Given the description of an element on the screen output the (x, y) to click on. 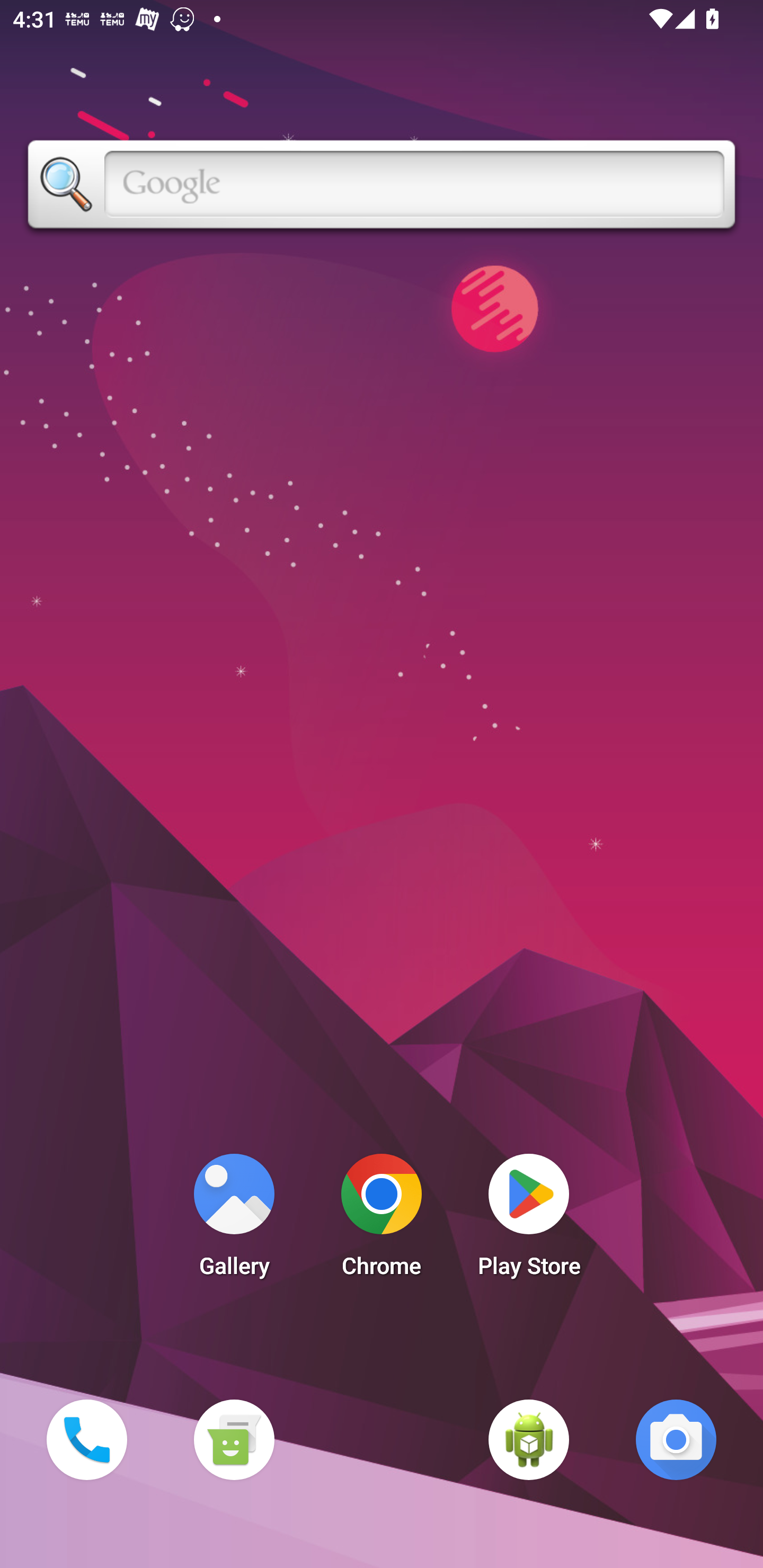
Gallery (233, 1220)
Chrome (381, 1220)
Play Store (528, 1220)
Phone (86, 1439)
Messaging (233, 1439)
WebView Browser Tester (528, 1439)
Camera (676, 1439)
